Given the description of an element on the screen output the (x, y) to click on. 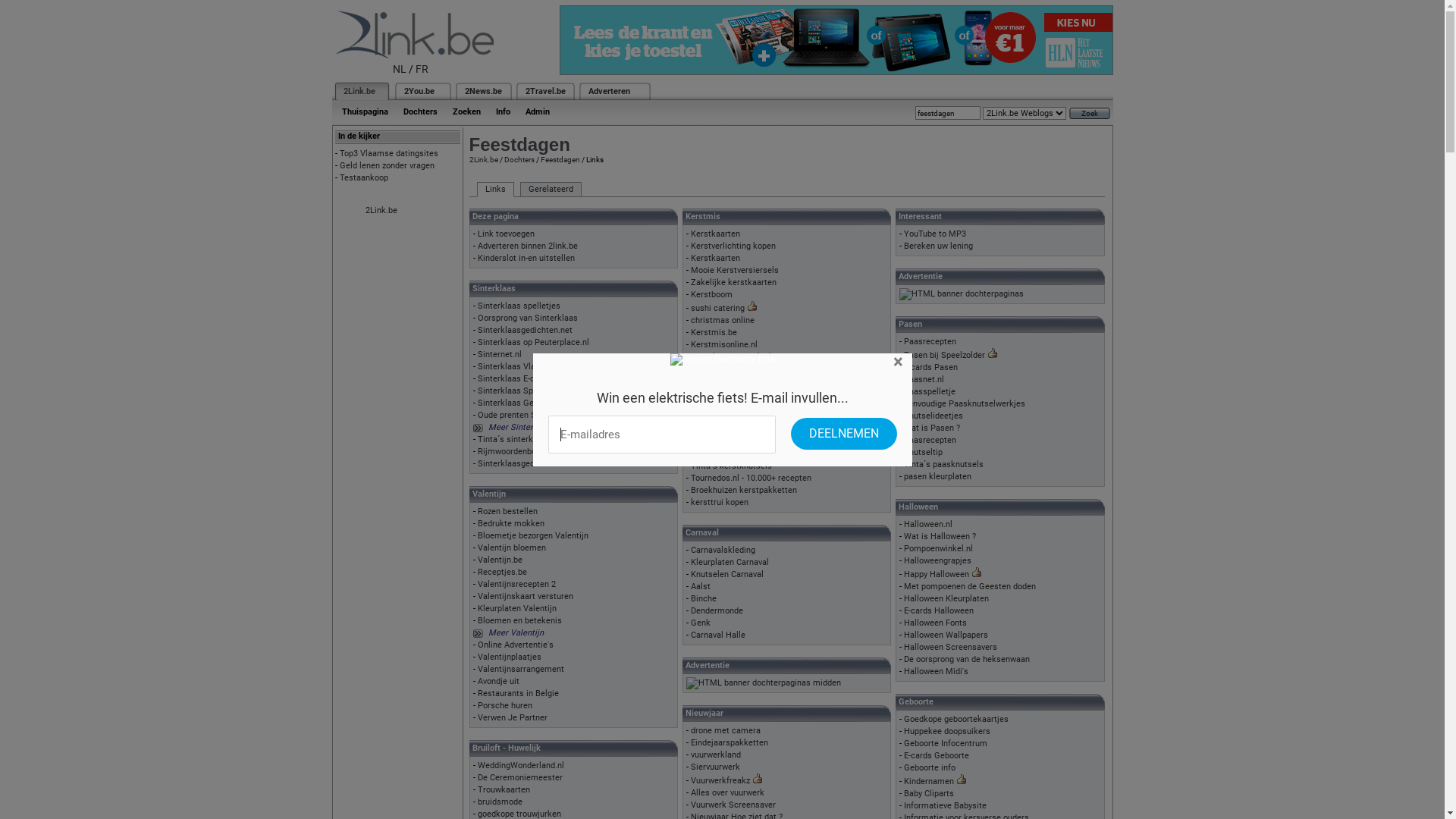
Bloemetje bezorgen Valentijn Element type: text (532, 535)
Sinterklaas op Peuterplace.nl Element type: text (533, 342)
Kerstmis Knutselen Element type: text (727, 429)
Halloween Fonts Element type: text (934, 622)
Sinterklaas Vlaanderen Element type: text (521, 366)
Kerstrecepten Element type: text (717, 368)
Sinterklaasgedichten.nu Element type: text (523, 463)
Paasrecepten Element type: text (929, 341)
Halloween Midi's Element type: text (935, 671)
Goedkope geboortekaartjes Element type: text (955, 719)
Meer Sinterklaas Element type: text (520, 427)
Valentijnplaatjes Element type: text (509, 657)
Huppekee doopsuikers Element type: text (946, 731)
Pasen bij Speelzolder Element type: text (944, 355)
Halloweengrapjes Element type: text (937, 560)
Tournedos.nl - 10.000+ recepten Element type: text (750, 478)
bruidsmode Element type: text (499, 801)
Bedrukte usb sticks kerstman Element type: text (747, 356)
Halloween.nl Element type: text (927, 524)
Info Element type: text (502, 111)
Valentijnskaart versturen Element type: text (525, 596)
Sinterklaas Gedichten Generator Element type: text (539, 402)
Dochters Element type: text (420, 111)
Pompoenwinkel.nl Element type: text (937, 548)
Adverteren binnen 2link.be Element type: text (527, 246)
christmas online Element type: text (722, 320)
E-cards Halloween Element type: text (938, 610)
vuurwerkland Element type: text (715, 754)
Eindejaarspakketten Element type: text (729, 742)
YouTube to MP3 Element type: text (934, 233)
Halloween Kleurplaten Element type: text (945, 598)
FR Element type: text (421, 68)
Zoek Element type: text (1089, 113)
Wat is Halloween ? Element type: text (939, 536)
Genk Element type: text (700, 622)
Kindernamen Element type: text (928, 781)
Happy Halloween Element type: text (936, 574)
Bereken uw lening Element type: text (937, 246)
E-cards Geboorte Element type: text (936, 755)
Receptjes.be Element type: text (502, 572)
Oorsprong van Sinterklaas Element type: text (527, 318)
Afbeeldingen Kerstmis Element type: text (733, 380)
Sinterklaas E-cards Element type: text (514, 378)
Halloween Screensavers Element type: text (950, 647)
Broekhuizen kerstpakketten Element type: text (743, 490)
Knutselideetjes Element type: text (933, 415)
Adverteren Element type: text (609, 91)
NL Element type: text (399, 68)
Sinterklaas Spelletjes Element type: text (519, 390)
Dendermonde Element type: text (716, 610)
Paasrecepten Element type: text (929, 440)
Vuurwerkfreakz Element type: text (719, 780)
Dochters Element type: text (518, 159)
Kerstmisonline.nl Element type: text (723, 344)
2Link.be Element type: text (358, 91)
Admin Element type: text (536, 111)
drone met camera Element type: text (725, 730)
Top3 Vlaamse datingsites Element type: text (388, 153)
Rozen bestellen Element type: text (507, 511)
Kerstversiering Element type: text (719, 393)
Met pompoenen de Geesten doden Element type: text (969, 586)
Bedrukte mokken Element type: text (510, 523)
De Ceremoniemeester Element type: text (519, 777)
Porsche huren Element type: text (504, 705)
Kerstboom Element type: text (711, 294)
Oude prenten Sinterklaas Element type: text (525, 415)
Wat is Pasen ? Element type: text (931, 428)
pasen kleurplaten Element type: text (937, 476)
Link toevoegen Element type: text (505, 233)
Carnavalskleding Element type: text (722, 550)
Paasnet.nl Element type: text (923, 379)
Valentijn.be Element type: text (499, 559)
Kerstkaarten Element type: text (715, 233)
Knutselideetjes Element type: text (719, 441)
Paasspelletje Element type: text (929, 391)
Feestdagen Element type: text (559, 159)
Trouwkaarten Element type: text (503, 789)
Kerstverlichting kopen Element type: text (732, 246)
Geboorte Infocentrum Element type: text (945, 743)
Kleurplaten Valentijn Element type: text (516, 608)
Carnaval Halle Element type: text (717, 635)
Knutseltip Element type: text (922, 452)
De oorsprong van de heksenwaan Element type: text (966, 659)
Siervuurwerk Element type: text (715, 766)
2Link.be Element type: text (482, 159)
kersttrui kopen Element type: text (719, 502)
Knutselen Carnaval Element type: text (726, 574)
Aalst Element type: text (700, 586)
Rijmwoordenboek op Rijmgein.nl Element type: text (539, 451)
Bloemen en betekenis Element type: text (519, 620)
Verwen Je Partner Element type: text (512, 717)
Valentijnsarrangement Element type: text (520, 669)
Kerstmis.be Element type: text (713, 332)
Eenvoudige Paasknutselwerkjes Element type: text (964, 403)
Informatieve Babysite Element type: text (944, 805)
Online Kerstspelletjes Element type: text (732, 453)
Geld lenen zonder vragen Element type: text (386, 165)
Kinderslot in-en uitstellen Element type: text (525, 258)
Kerstkaarten Element type: text (715, 258)
sushi catering Element type: text (717, 308)
E-cards Pasen Element type: text (930, 367)
Valentijn bloemen Element type: text (511, 547)
Sinternet.nl Element type: text (499, 354)
Sinterklaasgedichten.net Element type: text (524, 330)
Alles over vuurwerk Element type: text (727, 792)
Bewegende Wenskaarten Element type: text (738, 405)
Geboorte info Element type: text (929, 767)
Restaurants in Belgie Element type: text (517, 693)
Online Advertentie's Element type: text (515, 644)
2Travel.be Element type: text (544, 91)
Meer Valentijn Element type: text (515, 632)
Vuurwerk Screensaver Element type: text (732, 804)
Thuispagina Element type: text (364, 111)
Valentijnsrecepten 2 Element type: text (516, 584)
2You.be Element type: text (418, 91)
Links Element type: text (494, 189)
Zoeken Element type: text (465, 111)
Mooie Kerstversiersels Element type: text (734, 270)
Baby Cliparts Element type: text (928, 793)
Kleurplaten Carnaval Element type: text (729, 562)
Avondje uit Element type: text (498, 681)
Zakelijke kerstkaarten Element type: text (733, 282)
Sinterklaas spelletjes Element type: text (518, 305)
Gerelateerd Element type: text (550, 189)
Halloween Wallpapers Element type: text (945, 635)
Testaankoop Element type: text (363, 177)
2Link.be Element type: text (381, 210)
Binche Element type: text (703, 598)
Kerst Kleurplaten Element type: text (723, 417)
2News.be Element type: text (482, 91)
WeddingWonderland.nl Element type: text (520, 765)
